Given the description of an element on the screen output the (x, y) to click on. 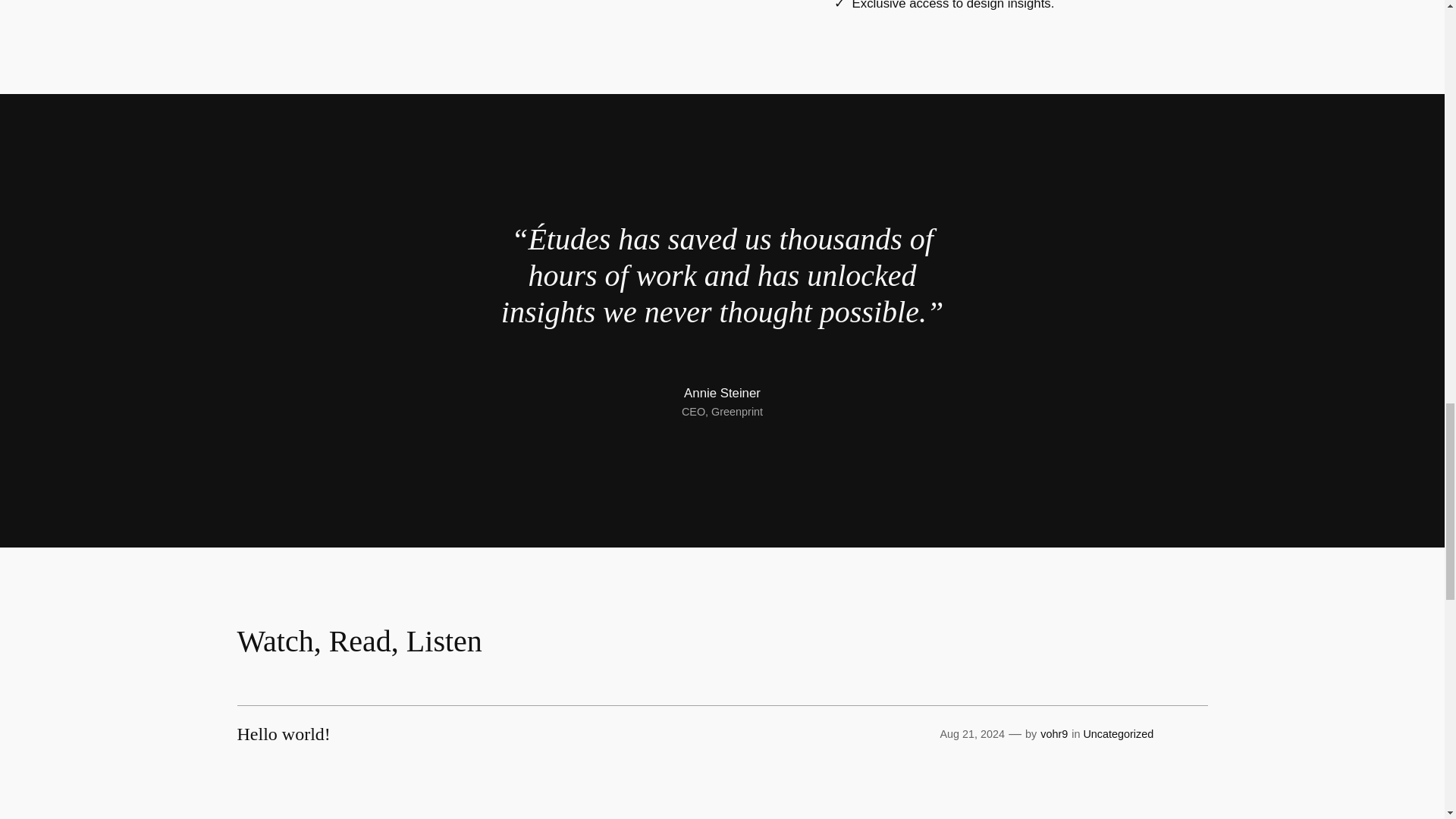
vohr9 (1054, 734)
Aug 21, 2024 (971, 734)
Uncategorized (1118, 734)
Hello world! (282, 733)
